Given the description of an element on the screen output the (x, y) to click on. 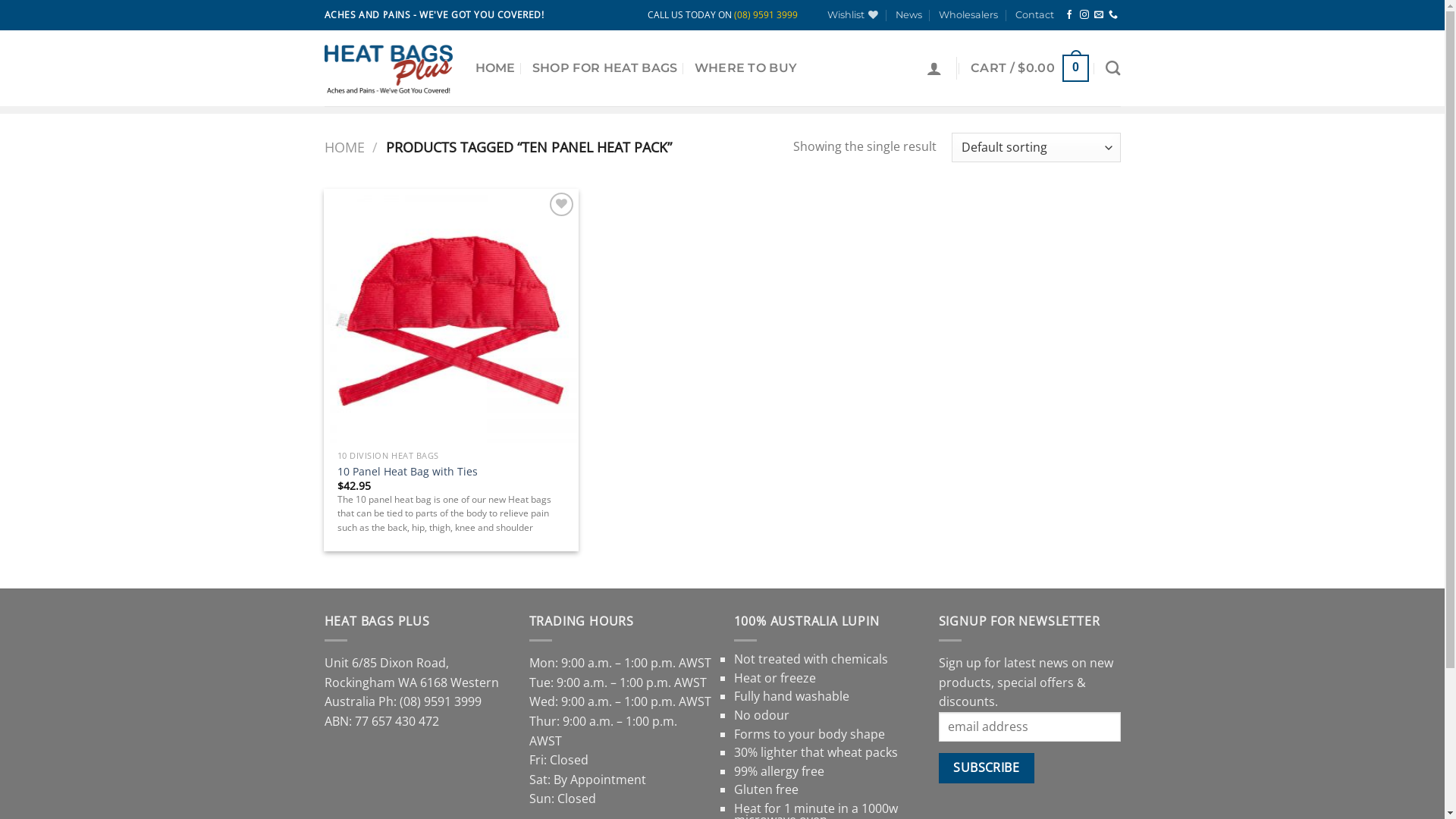
HOME Element type: text (344, 146)
Contact Element type: text (1034, 14)
(08) 9591 3999 Element type: text (439, 701)
WHERE TO BUY Element type: text (745, 67)
News Element type: text (908, 14)
10 Panel Heat Bag with Ties Element type: text (407, 471)
Wholesalers Element type: text (967, 14)
HOME Element type: text (494, 67)
Subscribe Element type: text (986, 767)
CART / $0.00
0 Element type: text (1029, 68)
SHOP FOR HEAT BAGS Element type: text (604, 67)
(08) 9591 3999 Element type: text (765, 14)
Wishlist Element type: text (852, 14)
